Given the description of an element on the screen output the (x, y) to click on. 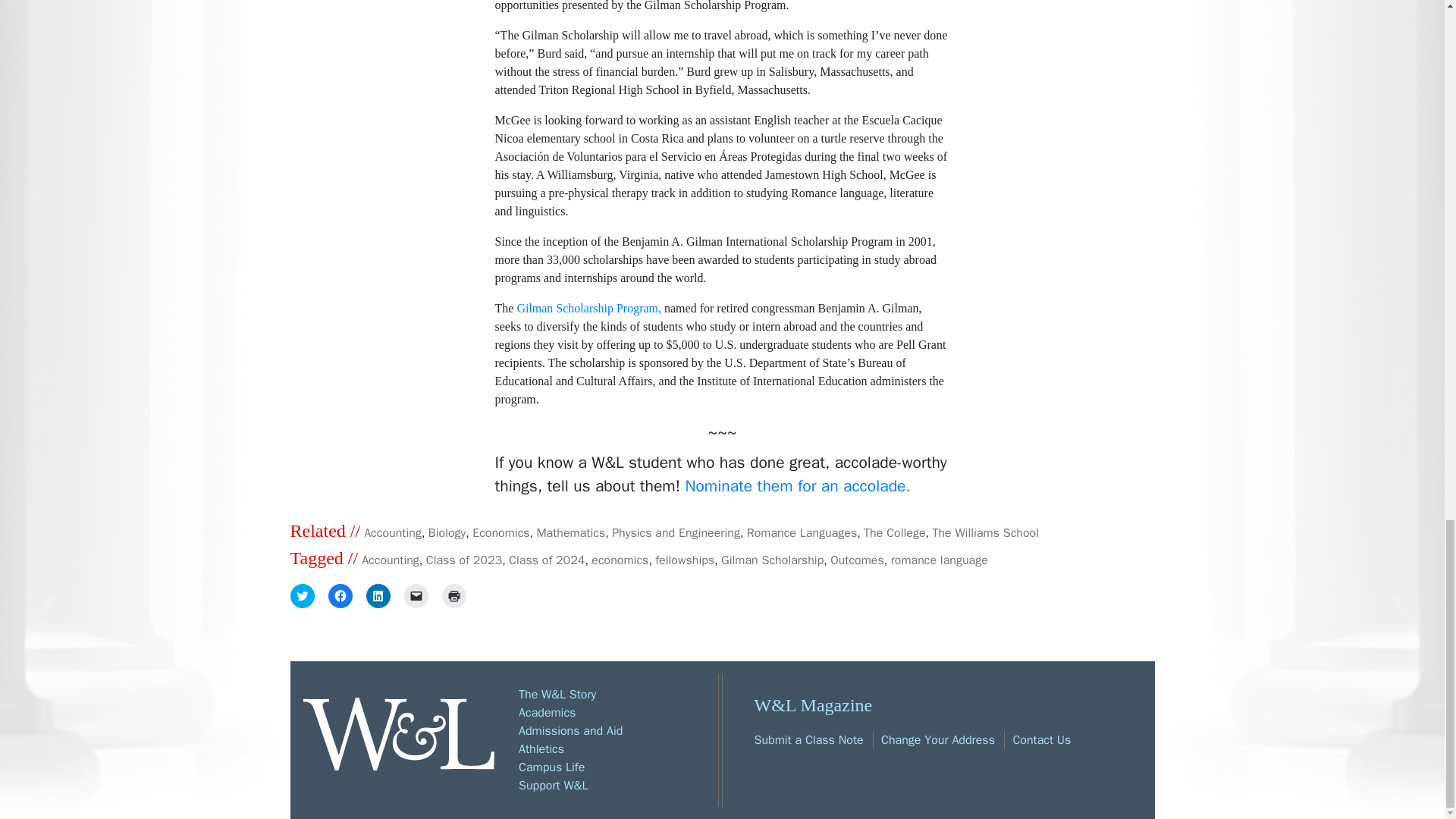
Click to share on LinkedIn (377, 595)
Click to email a link to a friend (415, 595)
Click to share on Twitter (301, 595)
Click to print (453, 595)
Click to share on Facebook (339, 595)
